Given the description of an element on the screen output the (x, y) to click on. 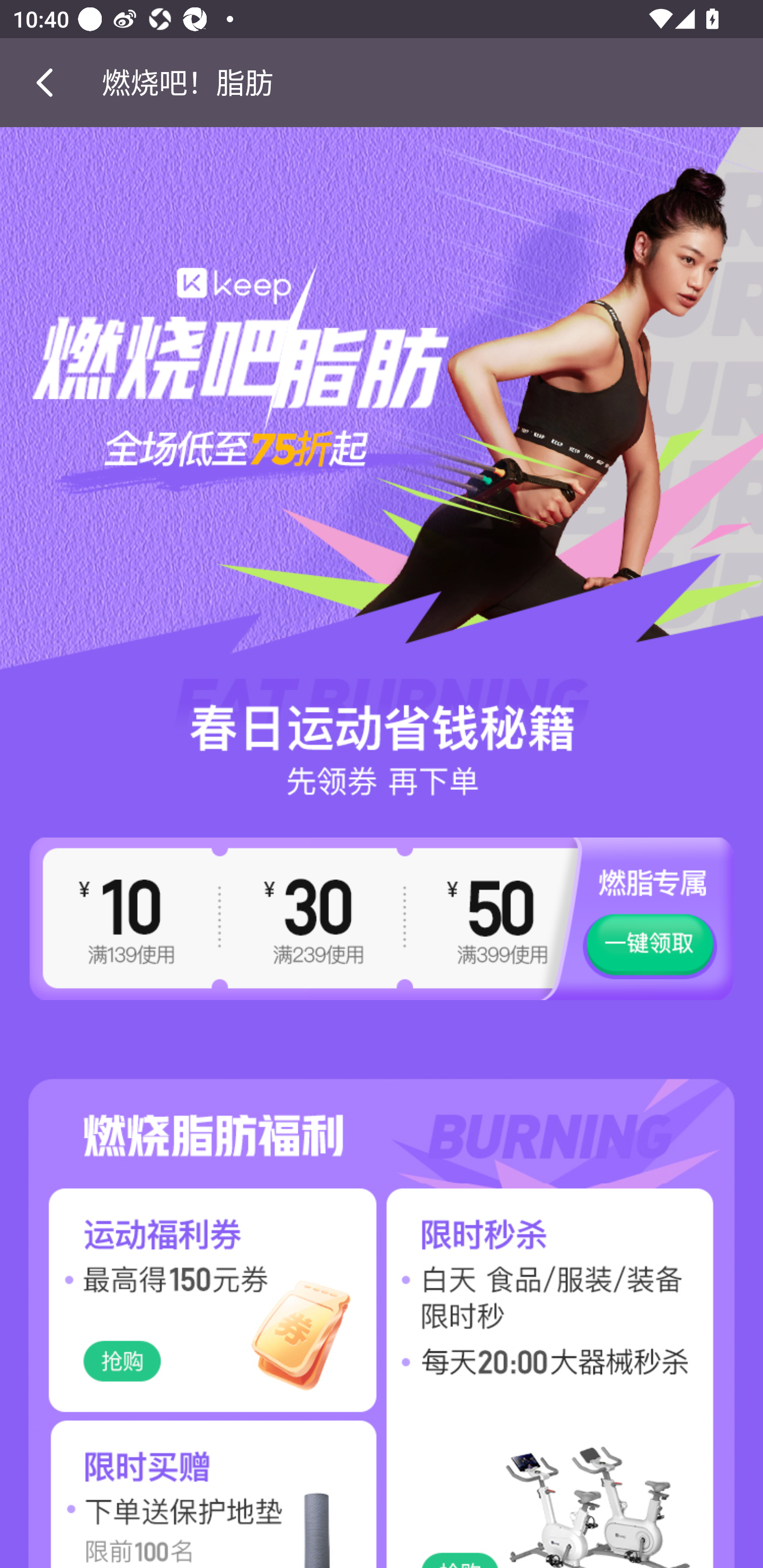
Left Button In Title Bar (50, 82)
1709893533071_750x660 (381, 462)
1709893588149_750x143 (381, 1111)
1709893556585_375x231 (190, 1300)
1709893559719_375x231 (572, 1300)
1709893563559_375x239 (190, 1491)
1709894012951_375x239 (572, 1491)
